Given the description of an element on the screen output the (x, y) to click on. 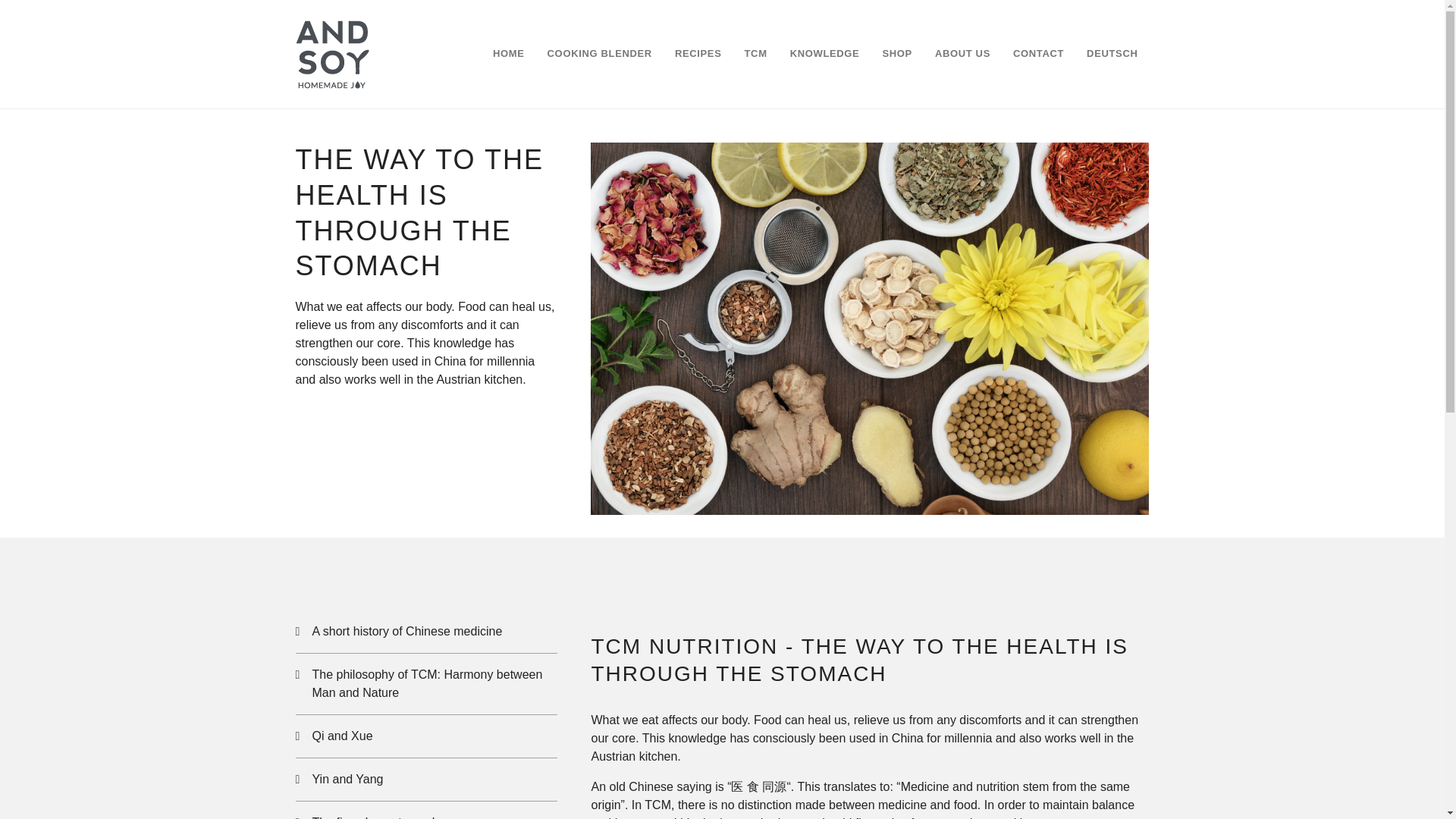
Terms and Conditions (717, 686)
Qi and Xue (426, 735)
A short history of Chinese medicine (426, 631)
The five elements or phases (426, 810)
COOKING BLENDER (599, 53)
KNOWLEDGE (825, 53)
Data protection declaration (590, 686)
The philosophy of TCM: Harmony between Man and Nature (426, 683)
Impressum (885, 686)
Yin and Yang (426, 779)
Shipping costs (814, 686)
ABOUT US (962, 53)
